Given the description of an element on the screen output the (x, y) to click on. 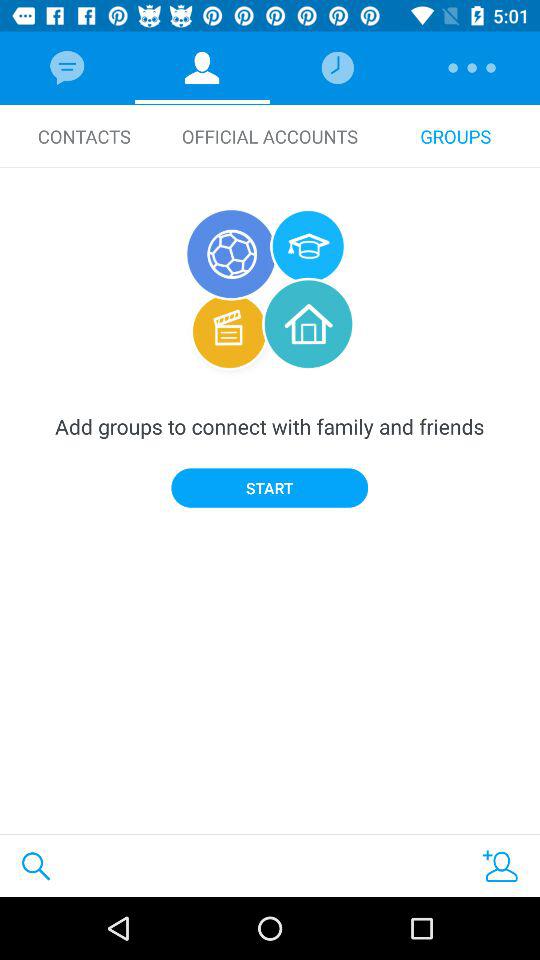
turn off the contacts icon (84, 136)
